Given the description of an element on the screen output the (x, y) to click on. 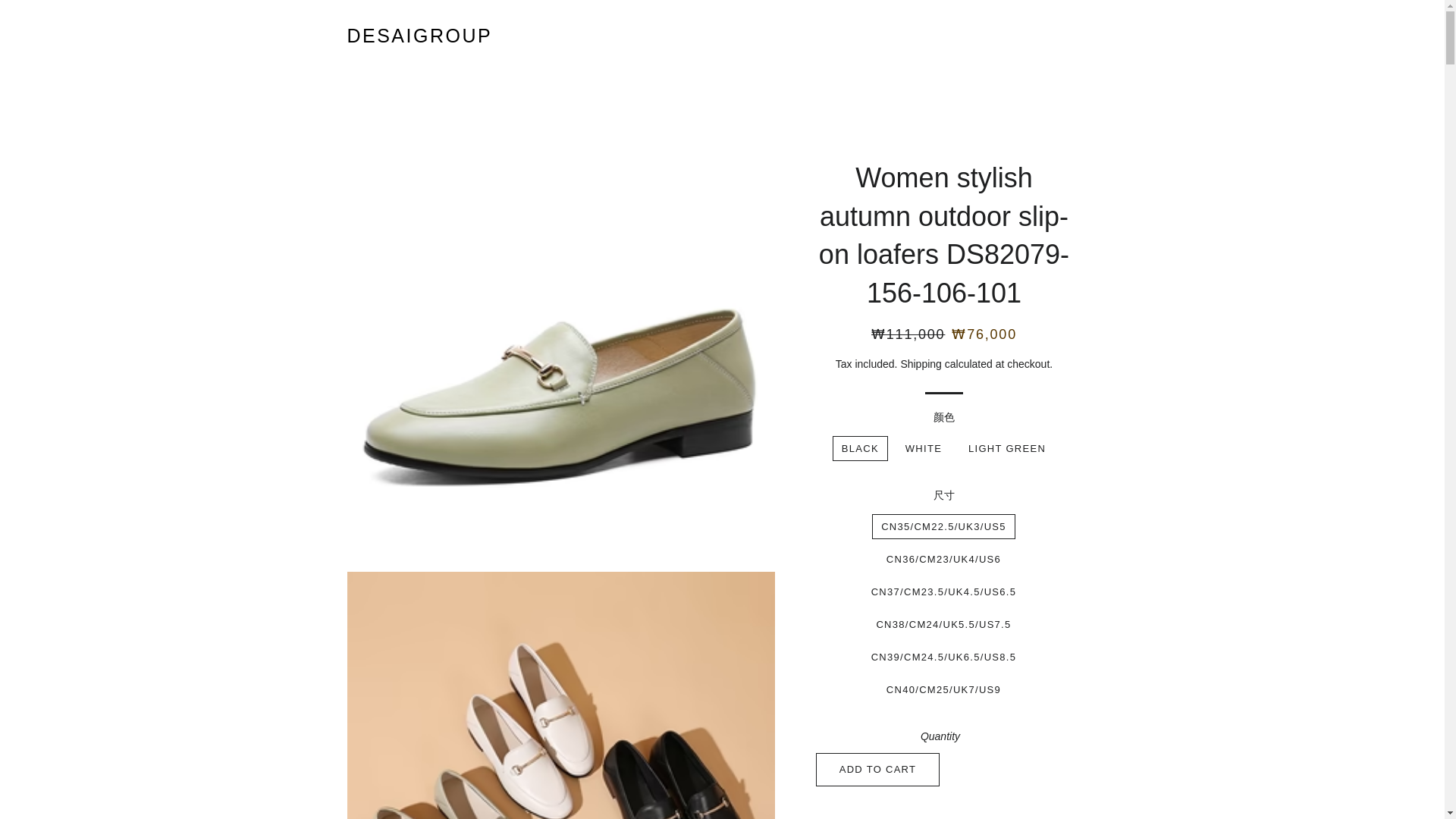
DESAIGROUP (420, 35)
Shipping (920, 363)
ADD TO CART (877, 769)
